Given the description of an element on the screen output the (x, y) to click on. 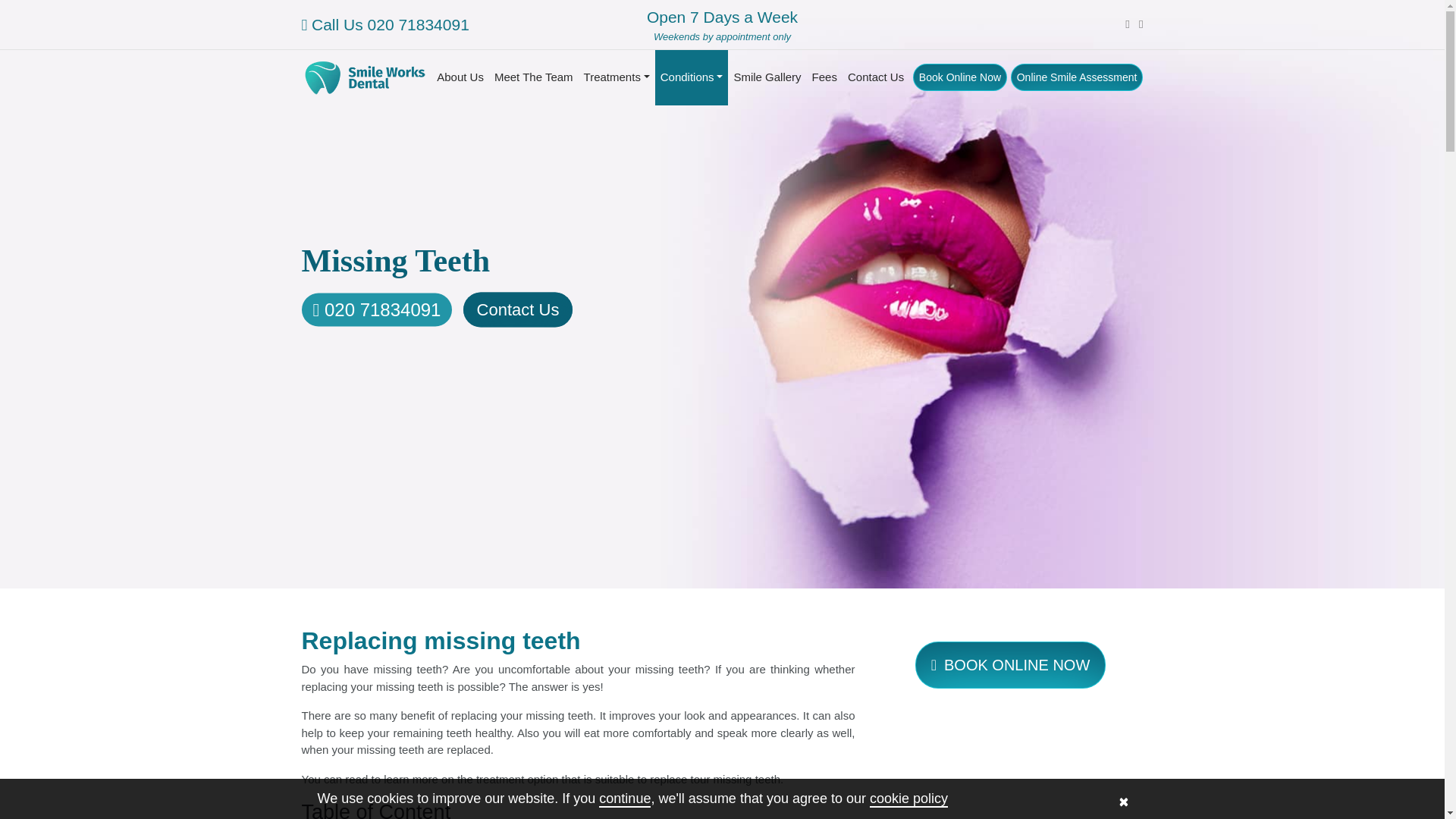
Treatments (616, 77)
Call Us 020 71834091 (384, 24)
About Us (721, 26)
Meet The Team (459, 77)
